Given the description of an element on the screen output the (x, y) to click on. 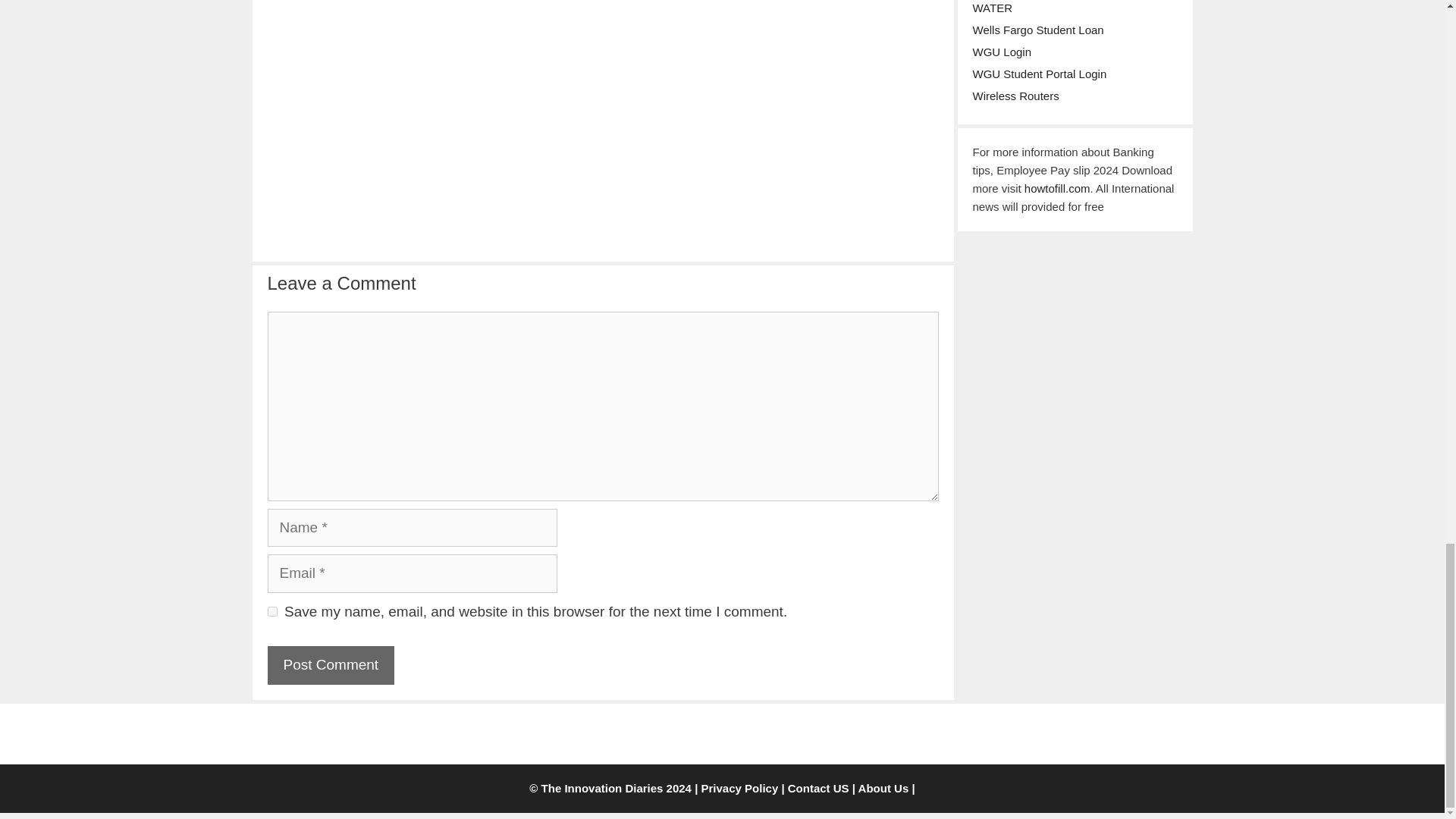
Post Comment (330, 665)
yes (271, 611)
Post Comment (330, 665)
